Given the description of an element on the screen output the (x, y) to click on. 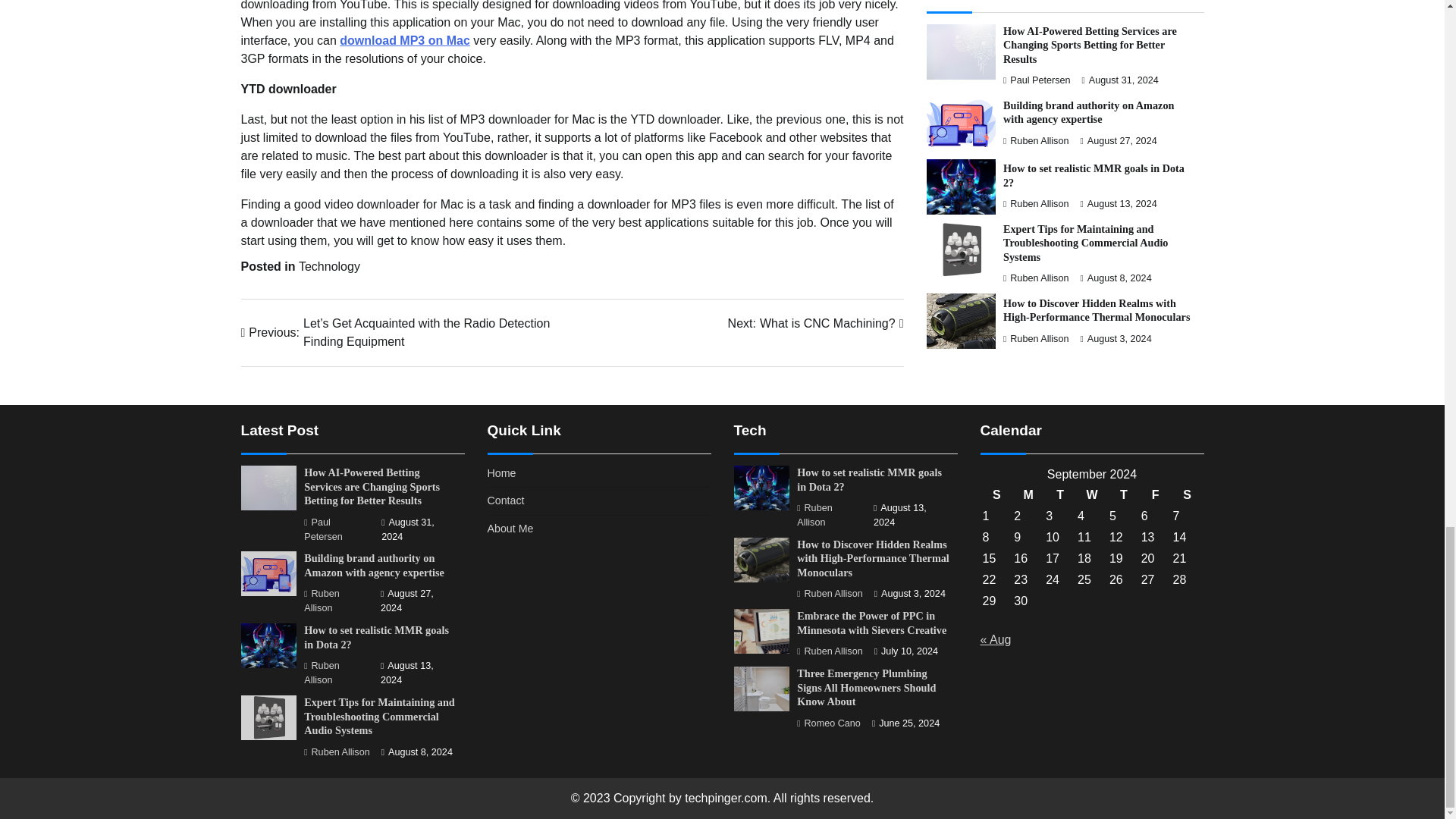
Tuesday (1060, 495)
Technology (328, 266)
Thursday (1123, 495)
Wednesday (1091, 495)
Friday (1155, 495)
Monday (1028, 495)
Sunday (996, 495)
download MP3 on Mac (404, 40)
Saturday (1187, 495)
